Given the description of an element on the screen output the (x, y) to click on. 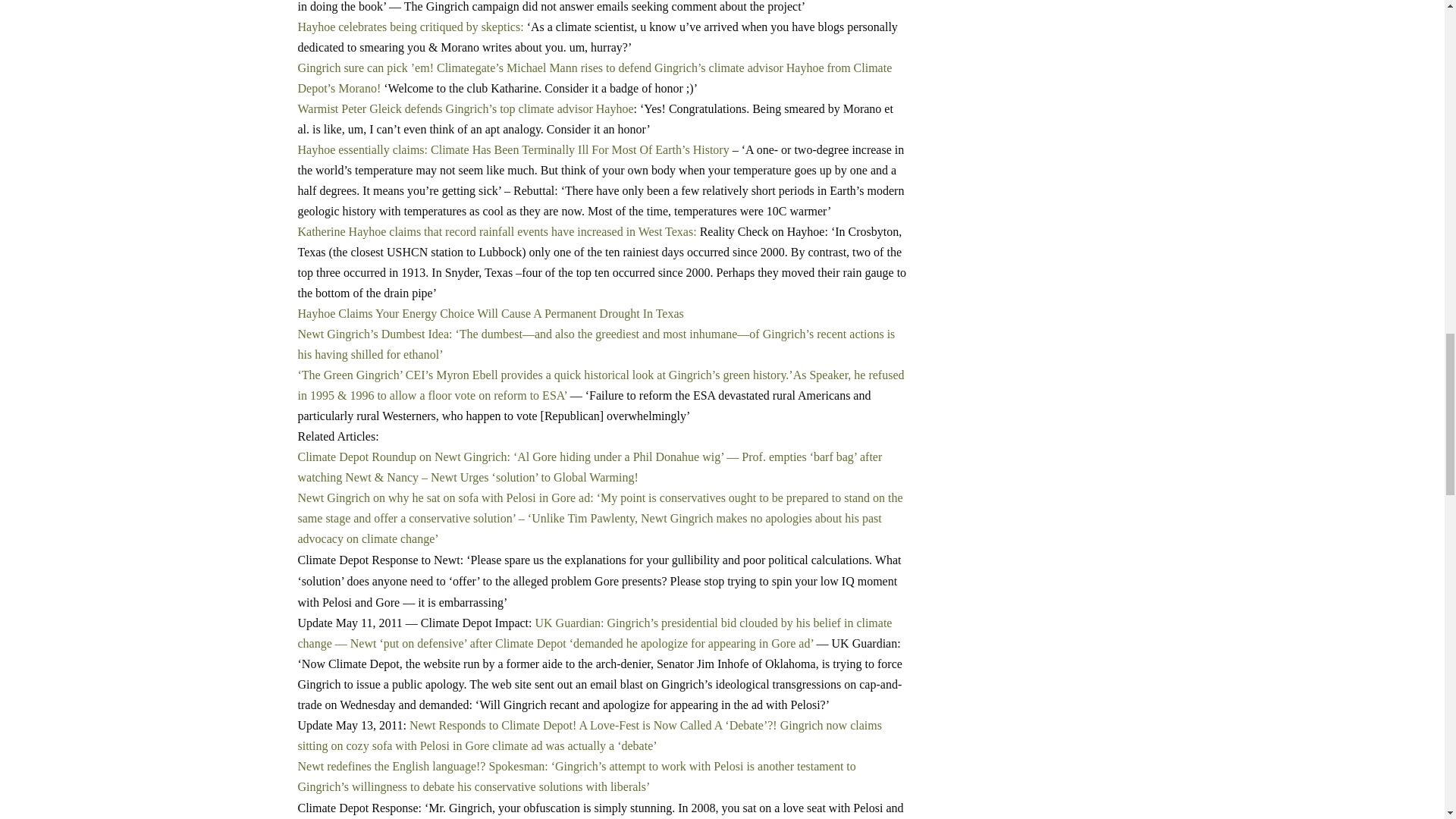
Hayhoe celebrates being critiqued by skeptics: (409, 26)
